Given the description of an element on the screen output the (x, y) to click on. 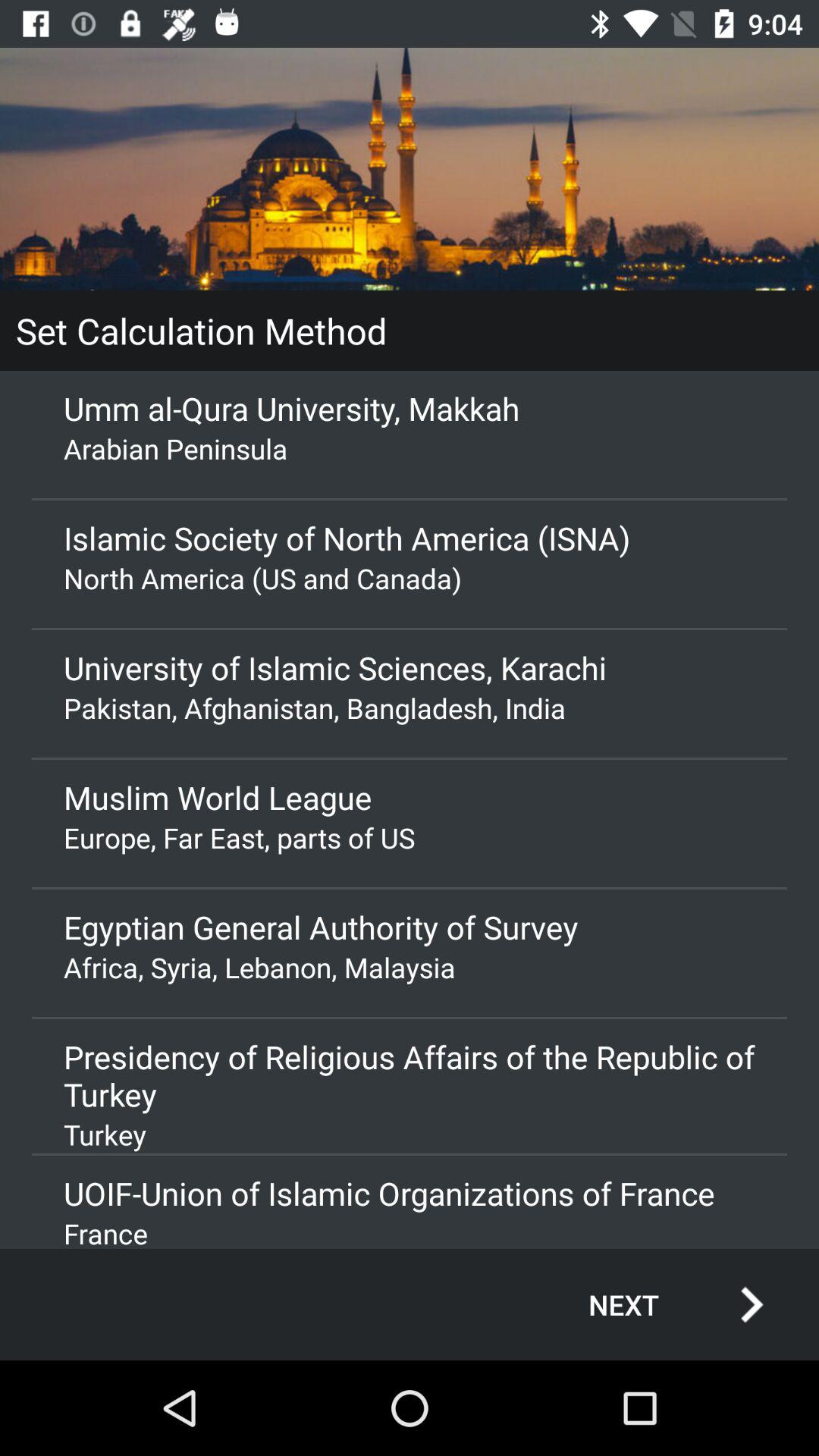
swipe to the uoif union of icon (409, 1192)
